Given the description of an element on the screen output the (x, y) to click on. 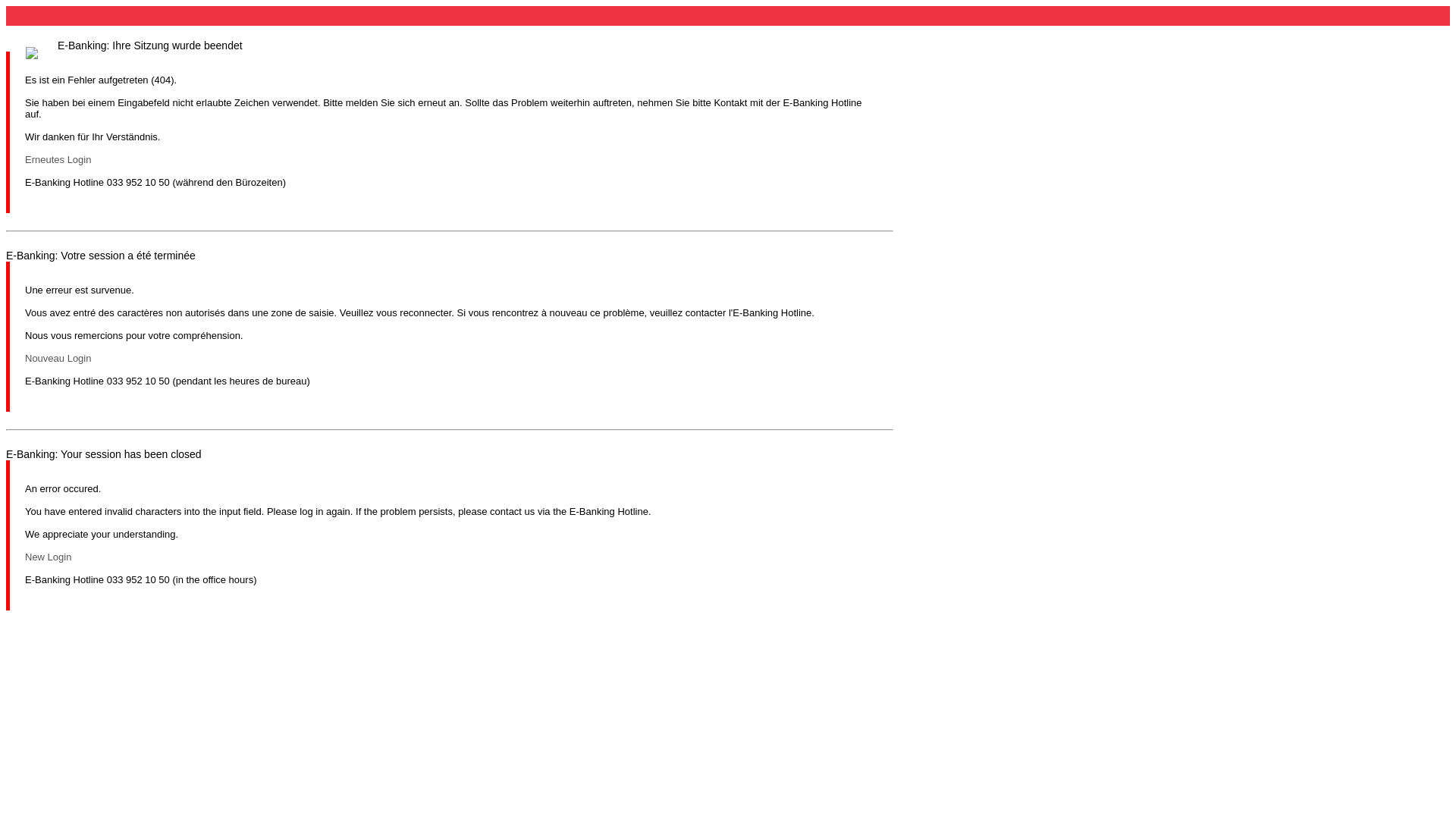
Erneutes Login Element type: text (58, 159)
New Login Element type: text (48, 556)
Nouveau Login Element type: text (58, 358)
